Given the description of an element on the screen output the (x, y) to click on. 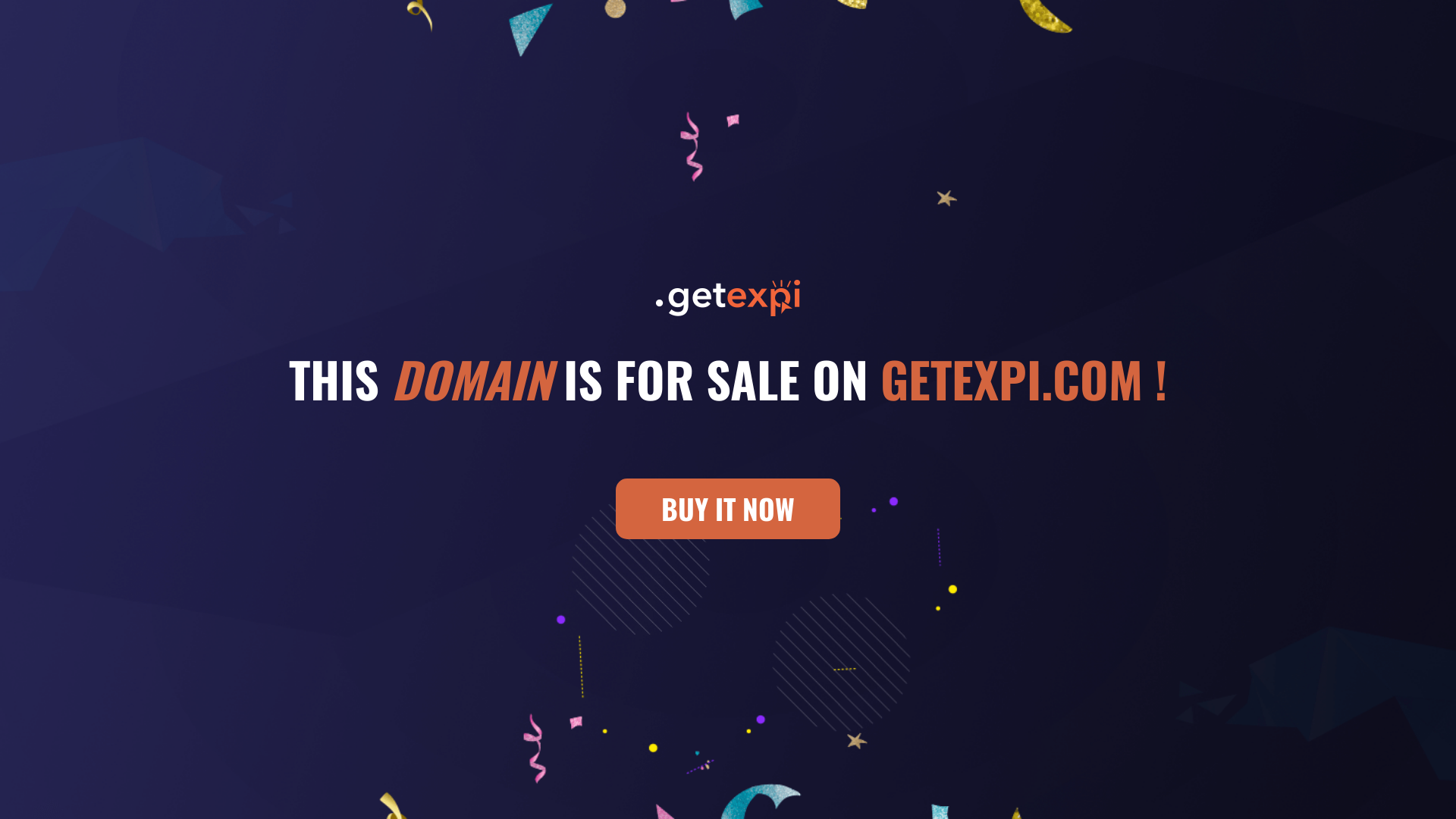
BUY IT NOW Element type: text (727, 508)
BUY IT NOW Element type: text (727, 515)
GETEXPI.COM ! Element type: text (1023, 378)
